Given the description of an element on the screen output the (x, y) to click on. 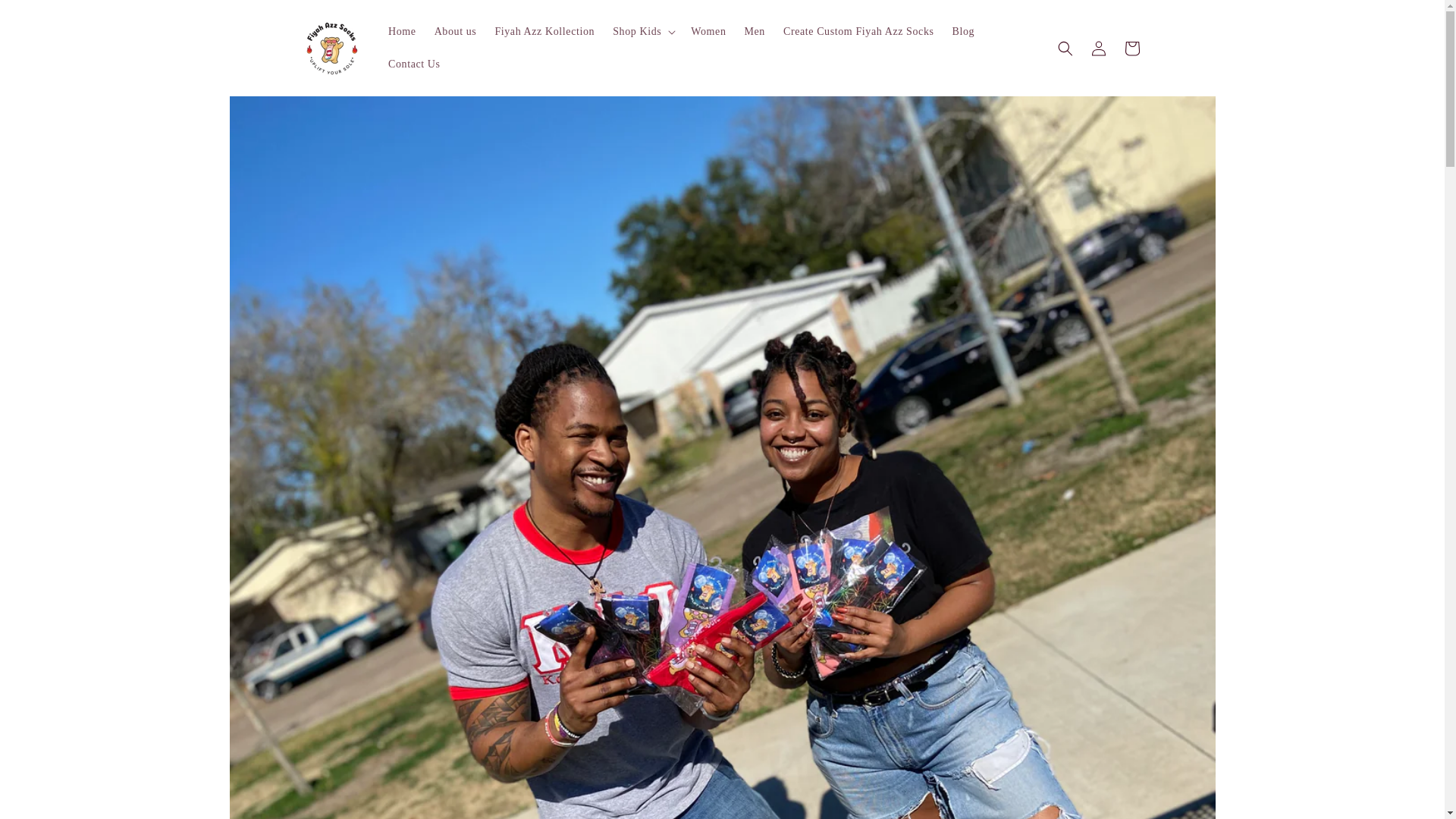
Blog (963, 31)
Fiyah Azz Kollection (544, 31)
Log in (1098, 48)
Create Custom Fiyah Azz Socks (858, 31)
Contact Us (413, 64)
Women (708, 31)
Skip to content (46, 18)
Home (401, 31)
About us (455, 31)
Men (754, 31)
